Given the description of an element on the screen output the (x, y) to click on. 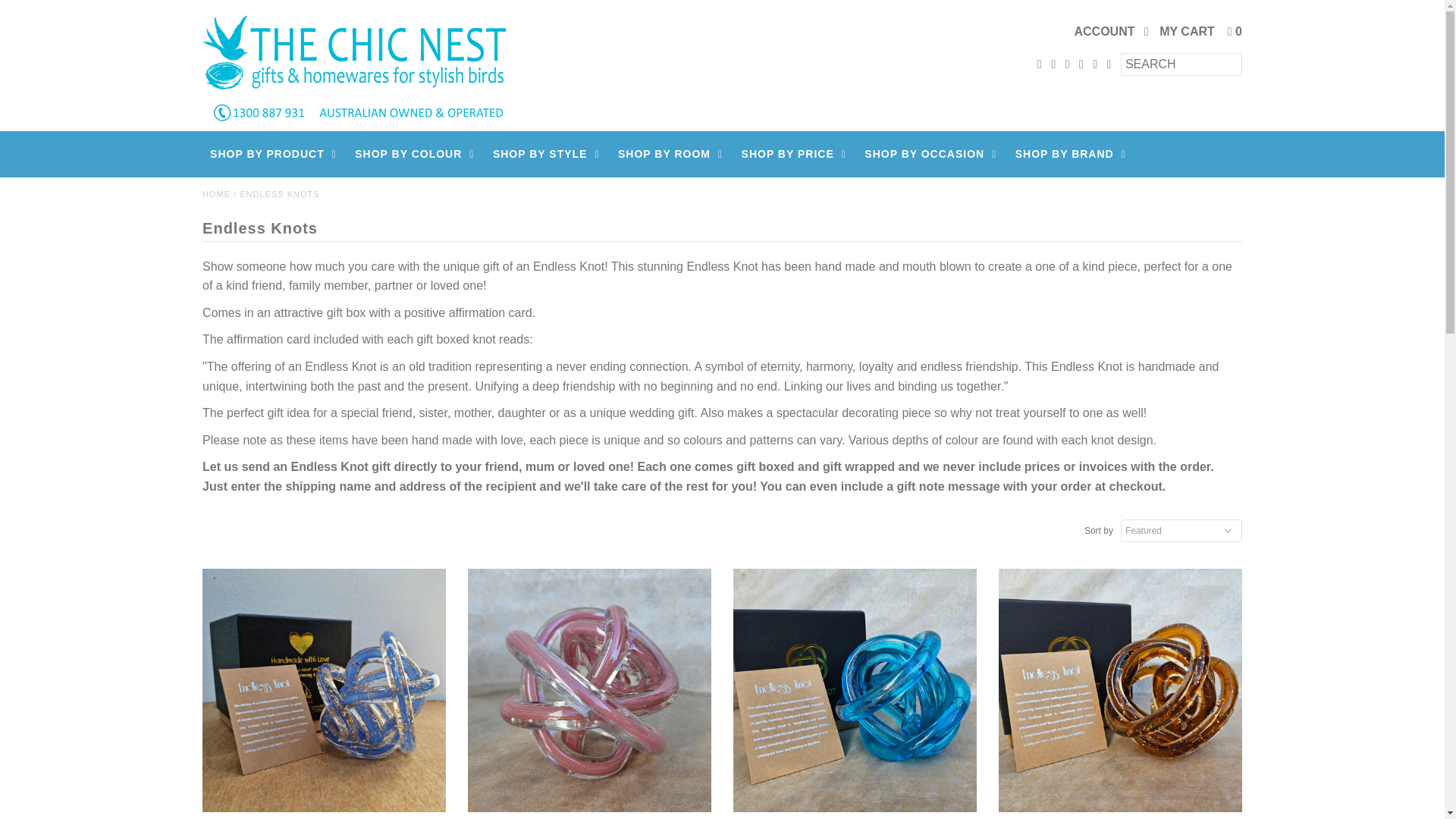
Home (216, 194)
